Given the description of an element on the screen output the (x, y) to click on. 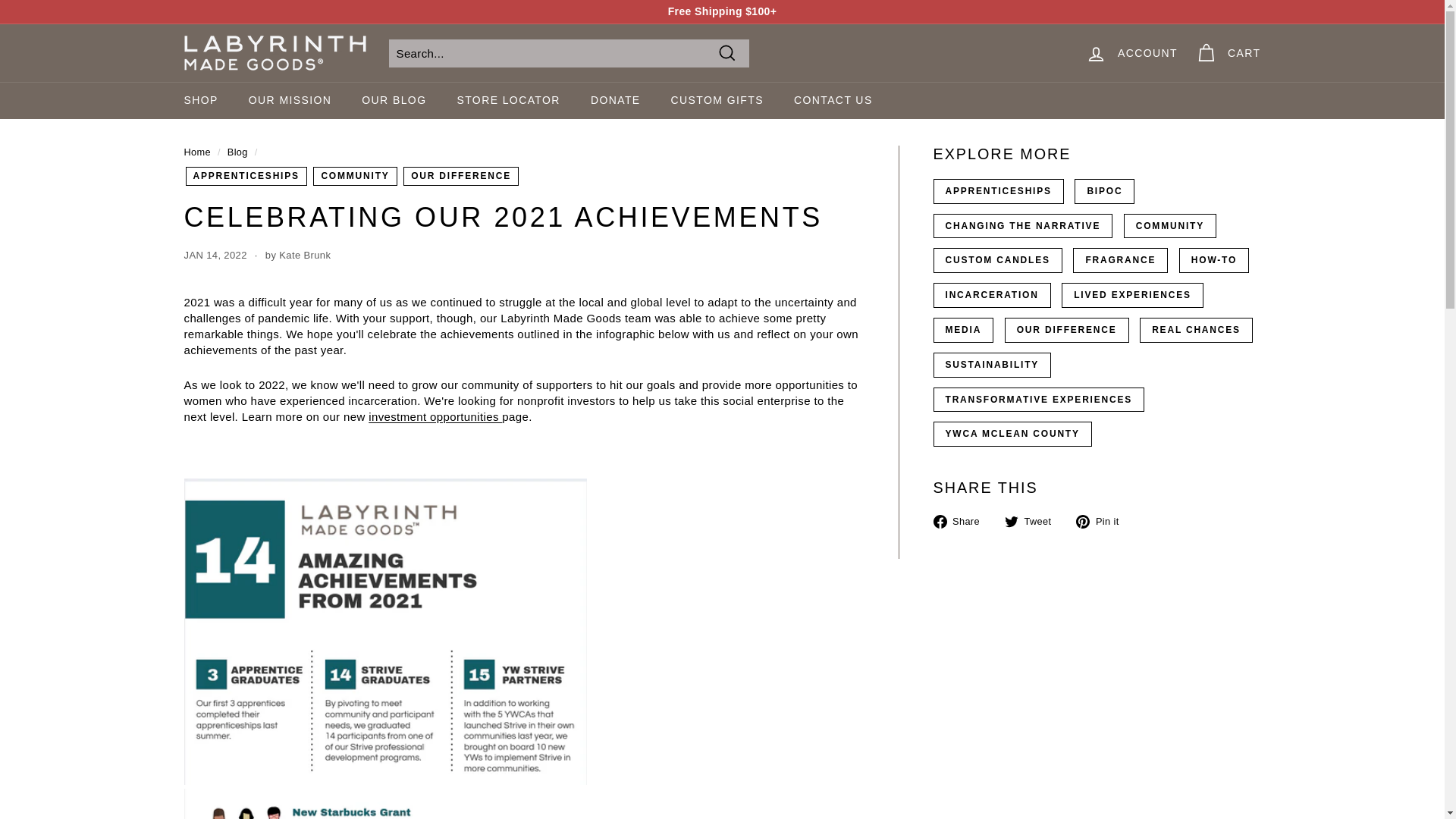
Back to the frontpage (197, 152)
Share on Facebook (961, 520)
CONTACT US (833, 99)
ACCOUNT (1131, 52)
DONATE (615, 99)
Pin on Pinterest (1102, 520)
Tweet on Twitter (1033, 520)
SHOP (200, 99)
OUR BLOG (393, 99)
